Given the description of an element on the screen output the (x, y) to click on. 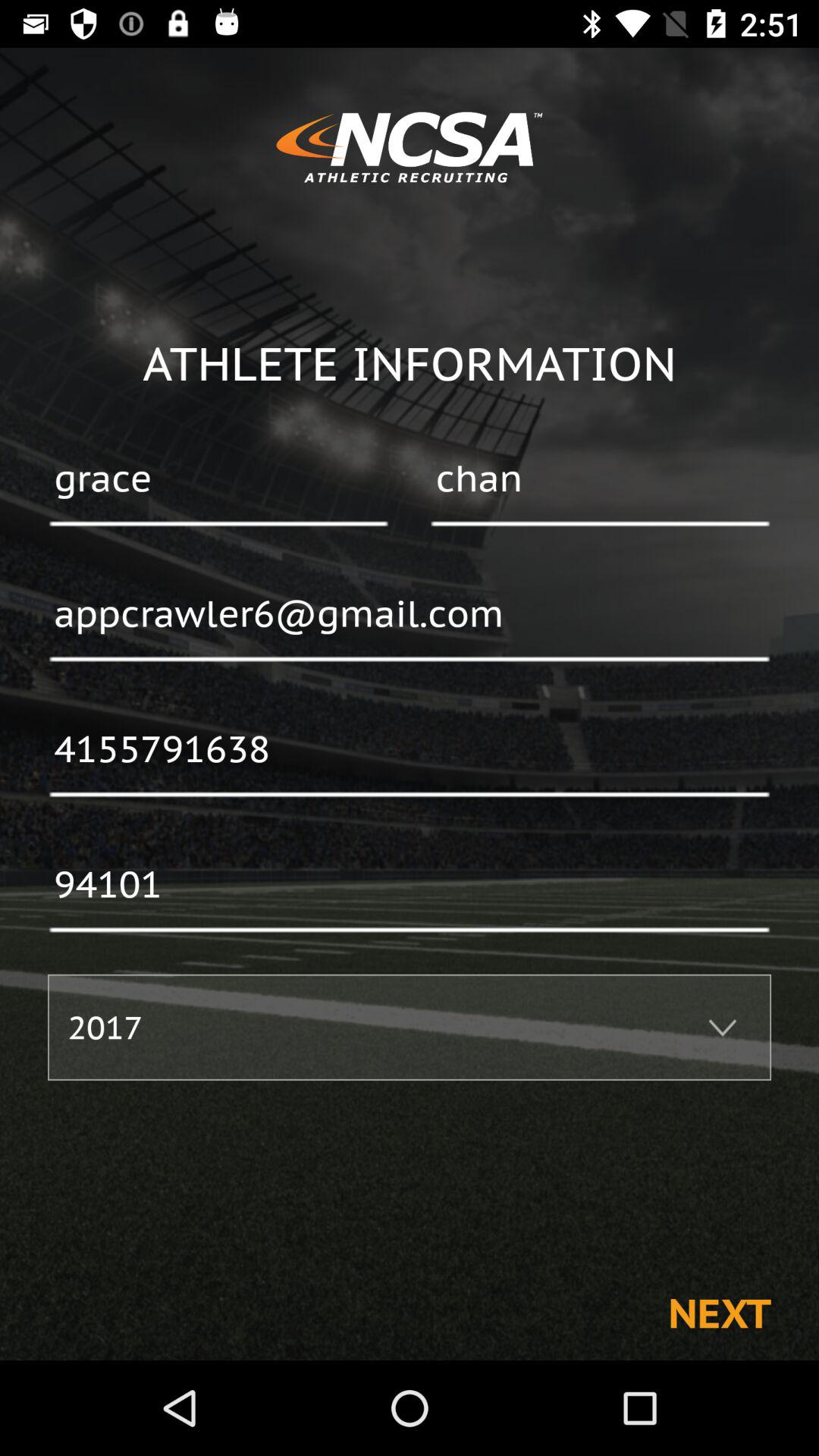
select the item above appcrawler6@gmail.com (218, 479)
